Given the description of an element on the screen output the (x, y) to click on. 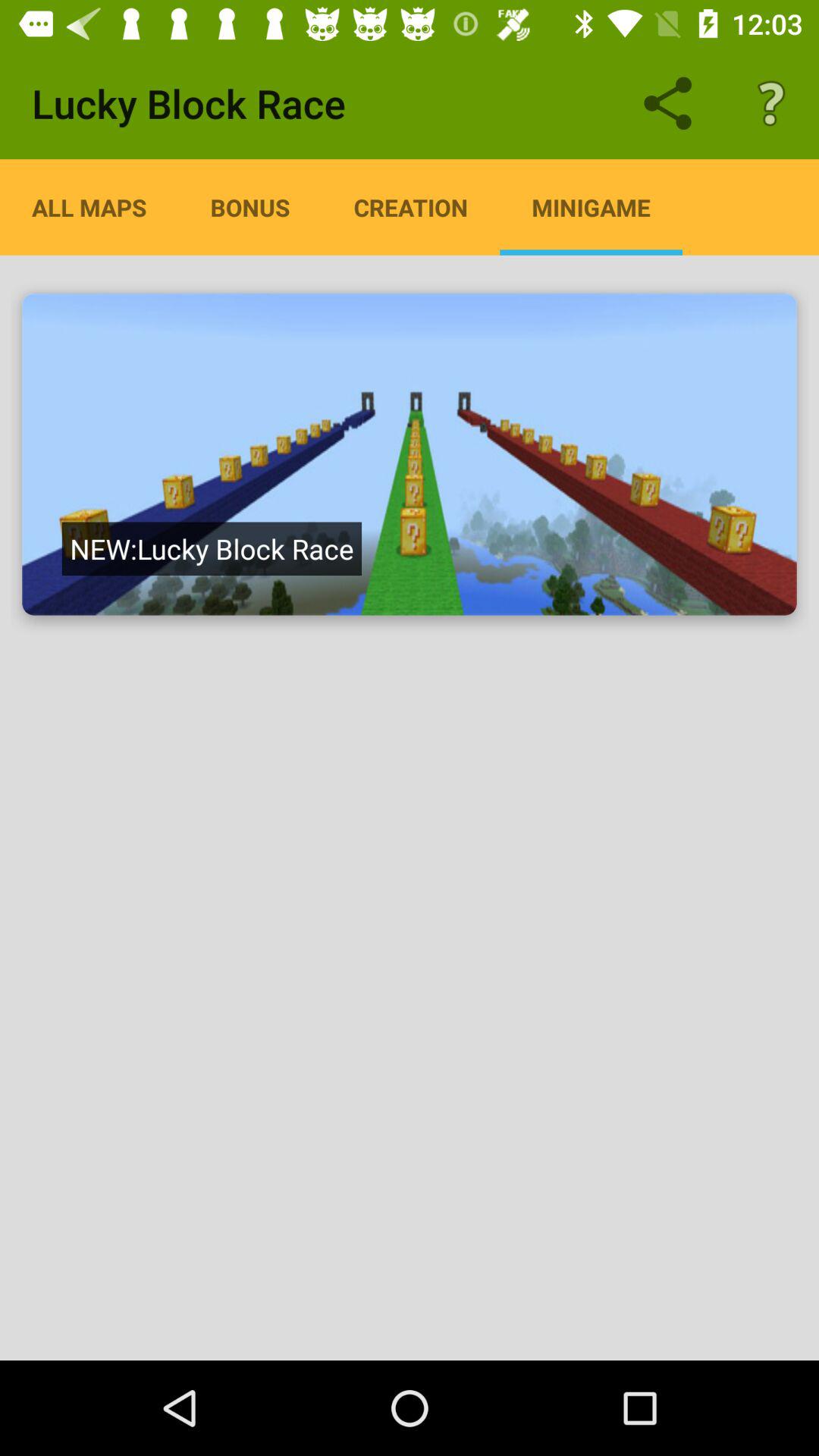
swipe until all maps icon (89, 207)
